Given the description of an element on the screen output the (x, y) to click on. 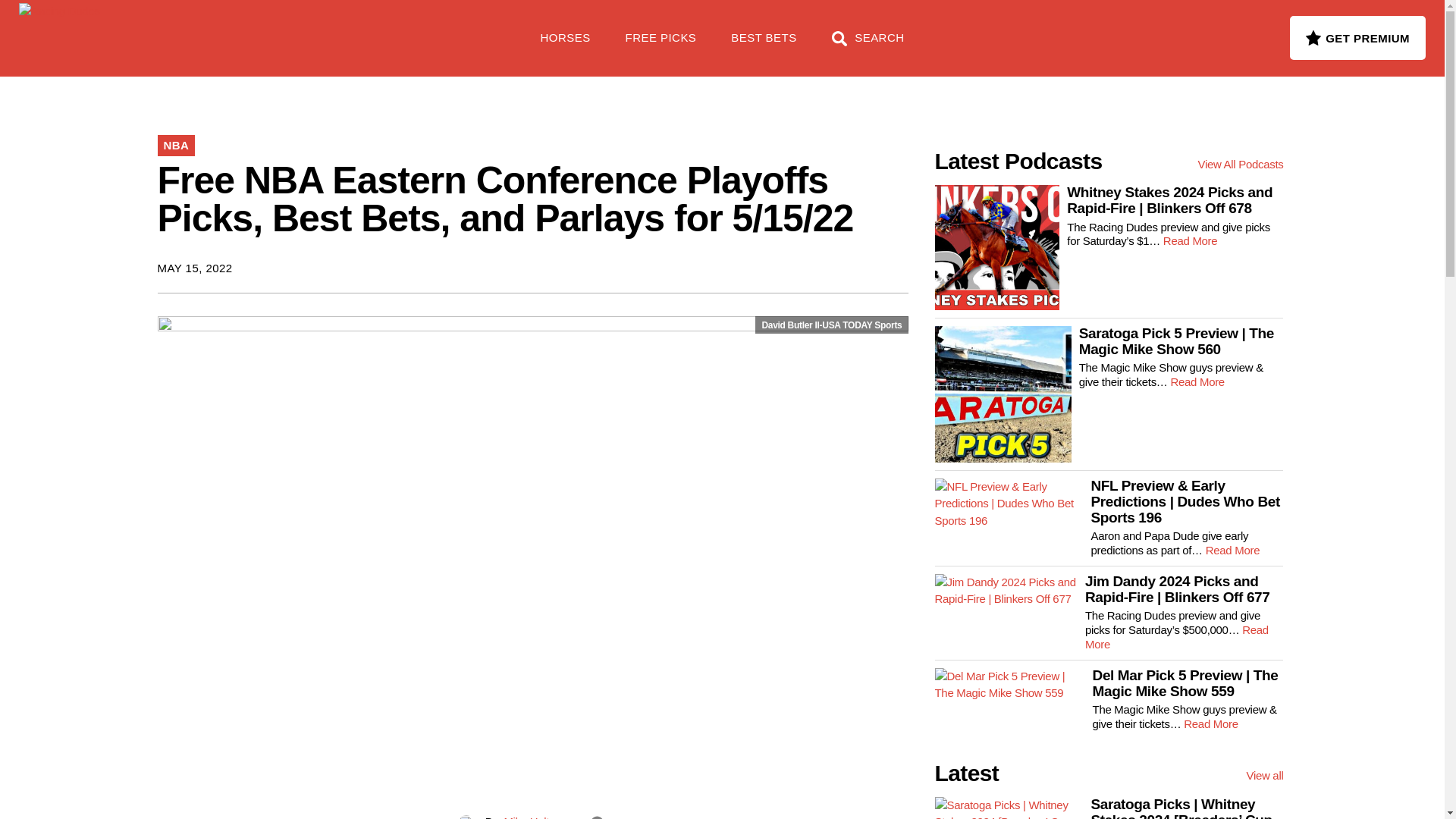
BEST BETS (763, 45)
GET PREMIUM (1357, 37)
FREE PICKS (245, 29)
PODCASTS (354, 29)
 SEARCH (867, 45)
FREE PICKS (661, 45)
HORSES (565, 45)
Posts by Mike Halterman (541, 816)
